Given the description of an element on the screen output the (x, y) to click on. 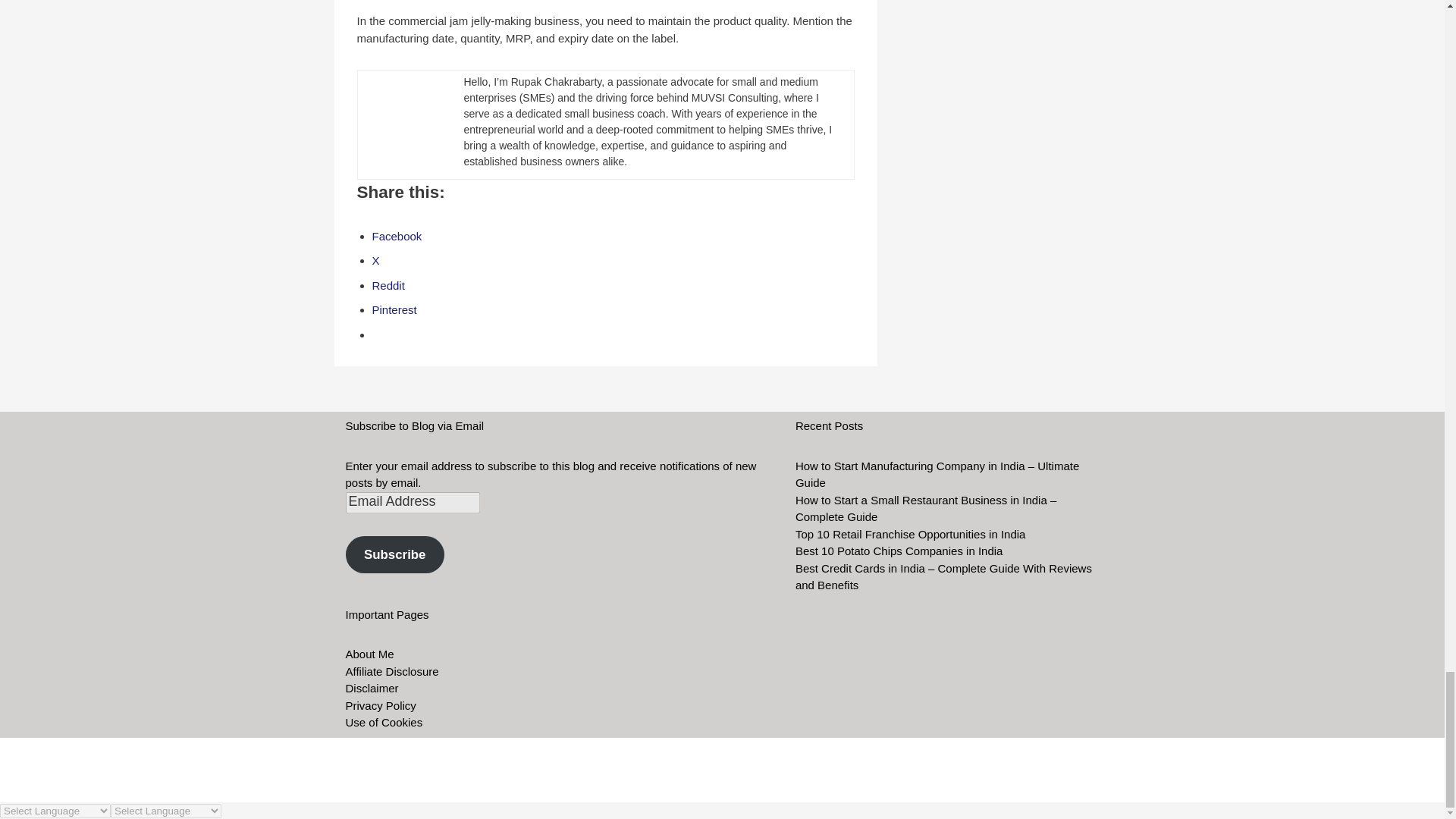
Best 10 Potato Chips Companies in India (898, 550)
Reddit (387, 285)
Top 10 Retail Franchise Opportunities in India (910, 533)
Disclaimer (372, 687)
Subscribe (395, 554)
WordPress (472, 783)
Neve (359, 783)
Facebook (396, 236)
Click to share on Facebook (396, 236)
About Me (370, 653)
Use of Cookies (384, 721)
Affiliate Disclosure (392, 671)
Pinterest (393, 309)
Privacy Policy (381, 705)
Click to share on Reddit (387, 285)
